Given the description of an element on the screen output the (x, y) to click on. 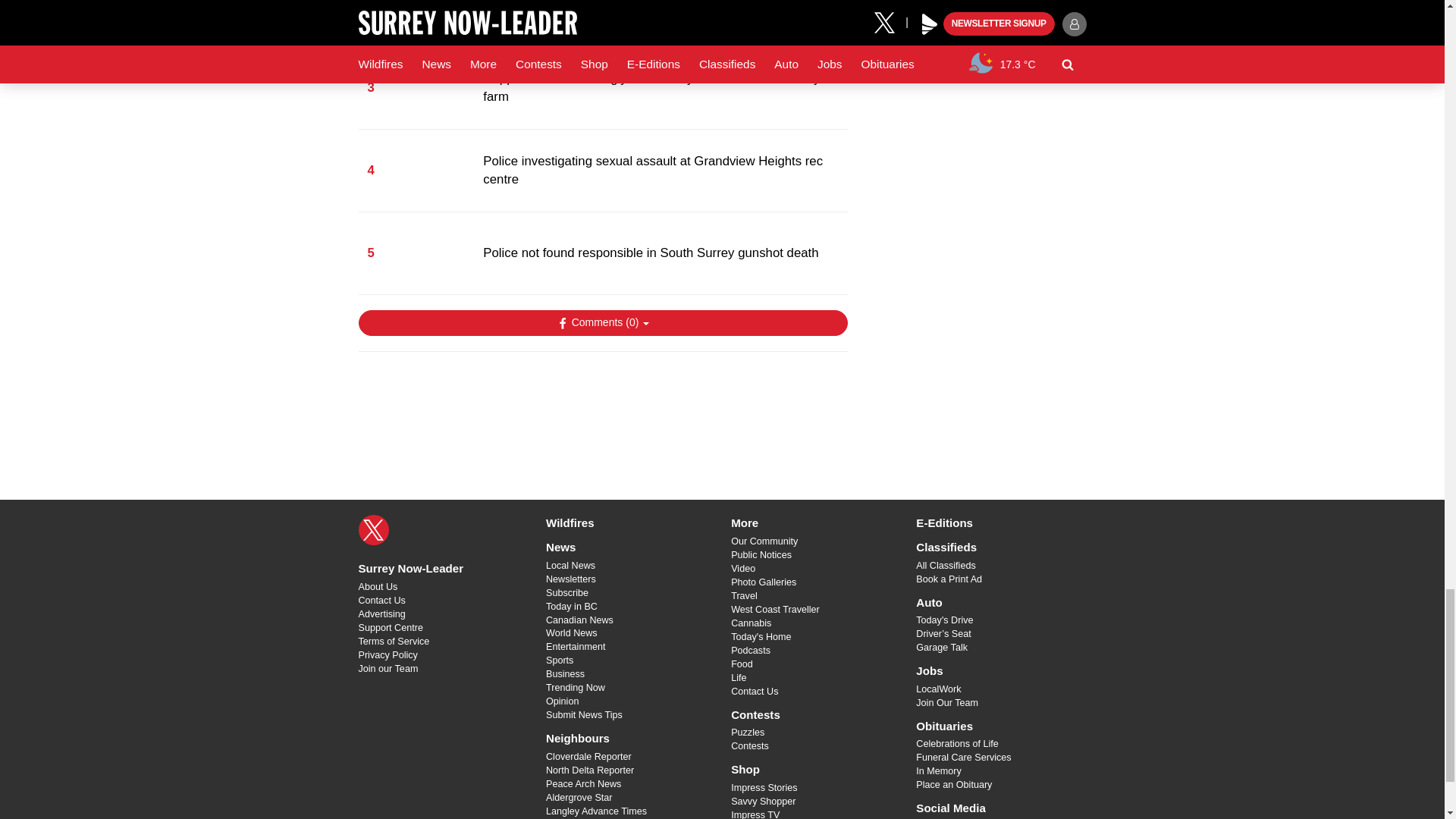
X (373, 530)
Show Comments (602, 322)
